Given the description of an element on the screen output the (x, y) to click on. 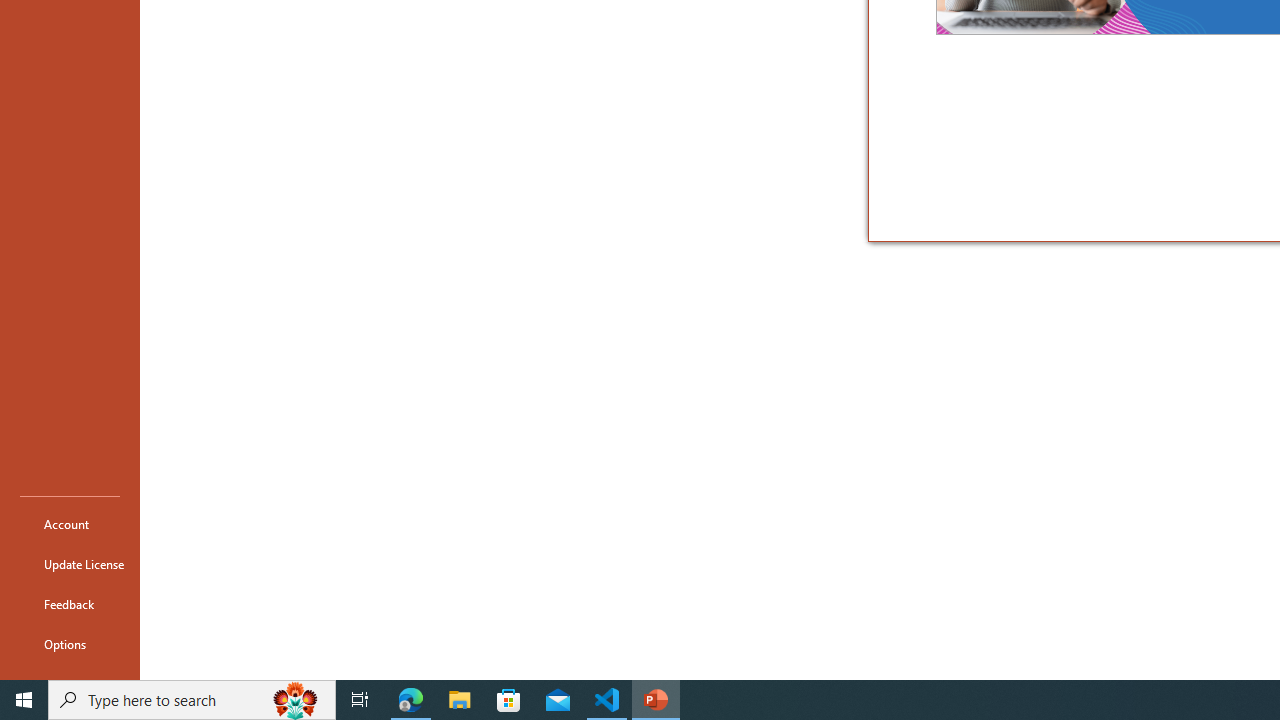
Update License (69, 563)
Feedback (69, 603)
Options (69, 643)
Account (69, 523)
